Given the description of an element on the screen output the (x, y) to click on. 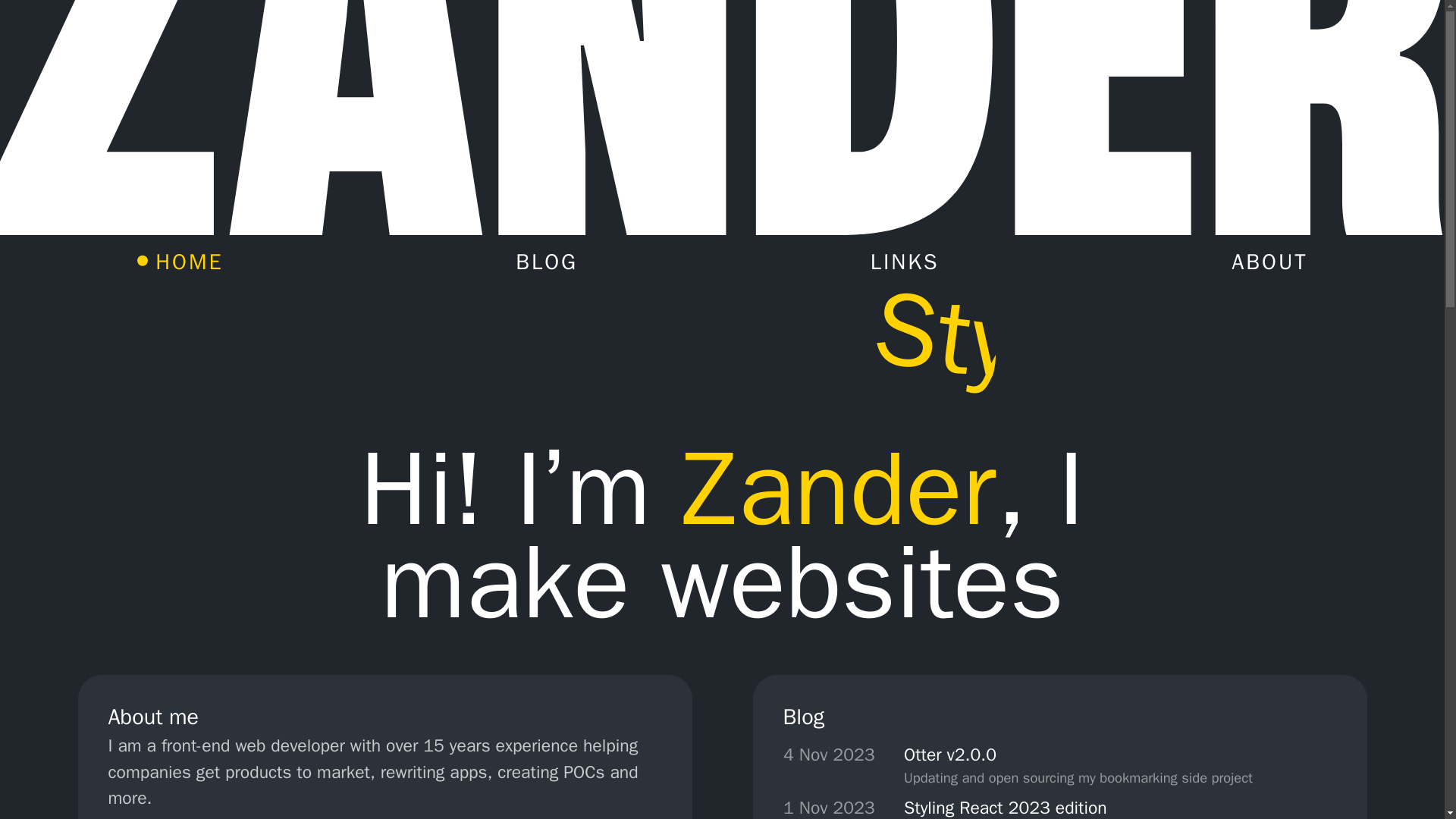
Otter v2.0.0 (1078, 754)
HOME (179, 262)
LINKS (894, 262)
ABOUT (1260, 262)
BLOG (537, 262)
Styling React 2023 edition (1120, 808)
